Given the description of an element on the screen output the (x, y) to click on. 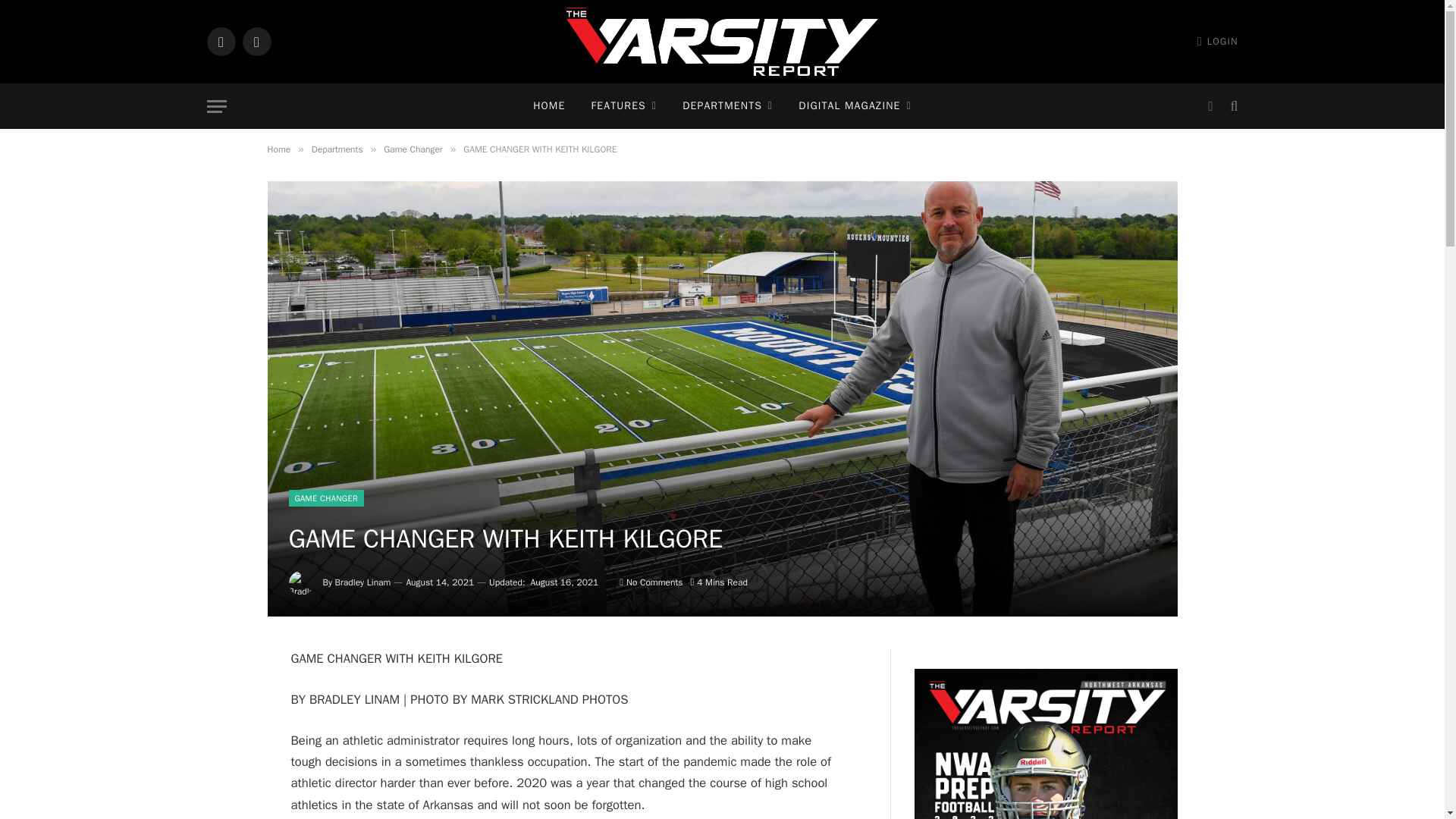
HOME (548, 105)
FEATURES (623, 105)
The Varsity Report (721, 41)
Facebook (256, 41)
LOGIN (1217, 41)
